Given the description of an element on the screen output the (x, y) to click on. 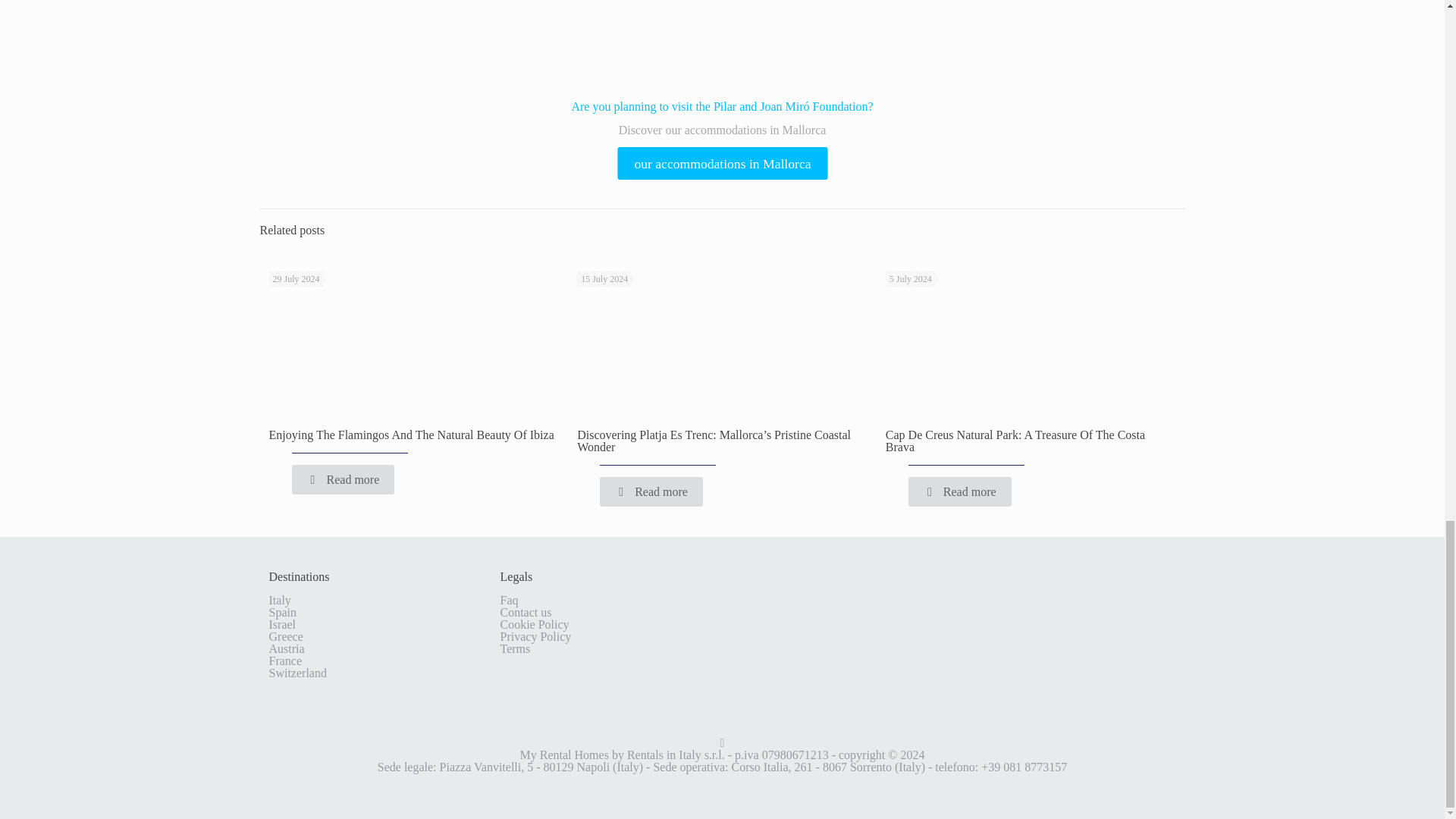
Read more (651, 491)
our accommodations in Mallorca (712, 161)
Terms (515, 648)
Read more (342, 479)
Contact us (525, 612)
Faq (509, 599)
Enjoying The Flamingos And The Natural Beauty Of Ibiza (410, 434)
Cookie Policy (534, 624)
Privacy Policy (536, 635)
